Given the description of an element on the screen output the (x, y) to click on. 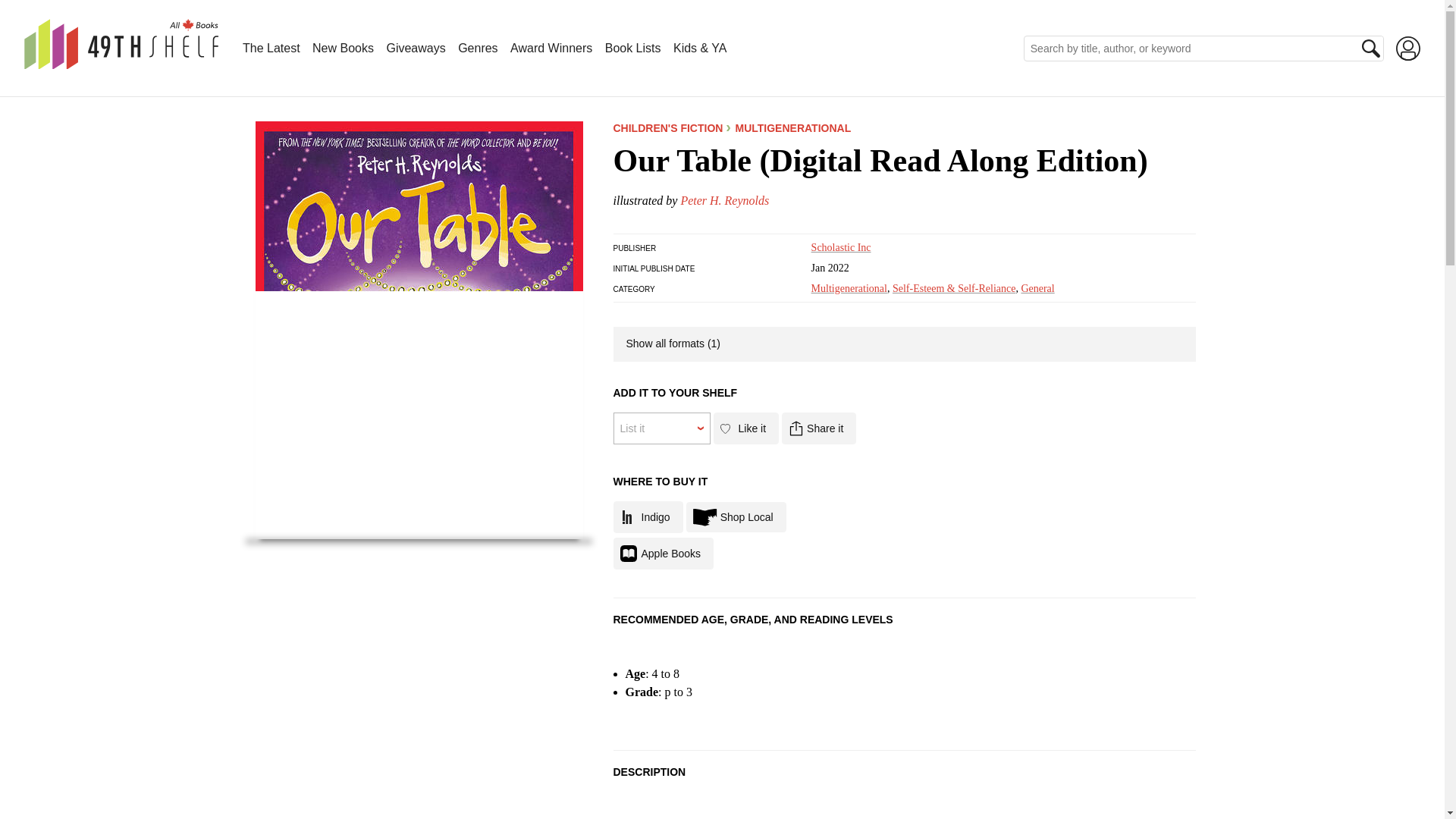
MULTIGENERATIONAL (787, 128)
Share it (818, 428)
Buy at Indigo (647, 517)
CHILDREN'S FICTION (667, 128)
49th Shelf: All Canadian Books (121, 43)
Peter H. Reynolds (723, 200)
Buy at Apple Books (662, 553)
View more Peter H. Reynolds books (723, 200)
Indigo (647, 517)
View more General books (1037, 288)
